Given the description of an element on the screen output the (x, y) to click on. 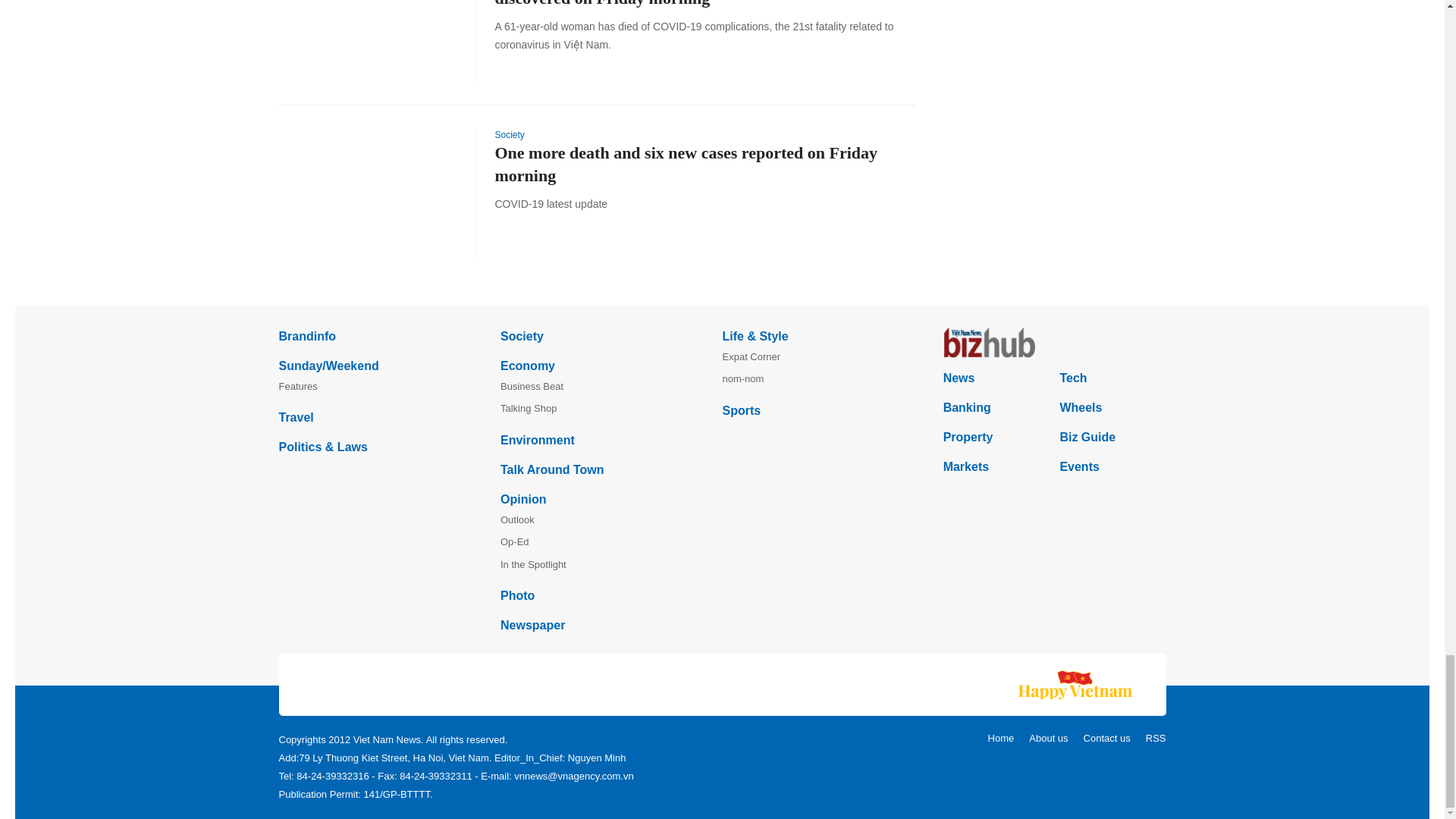
bizhub (1054, 342)
